Given the description of an element on the screen output the (x, y) to click on. 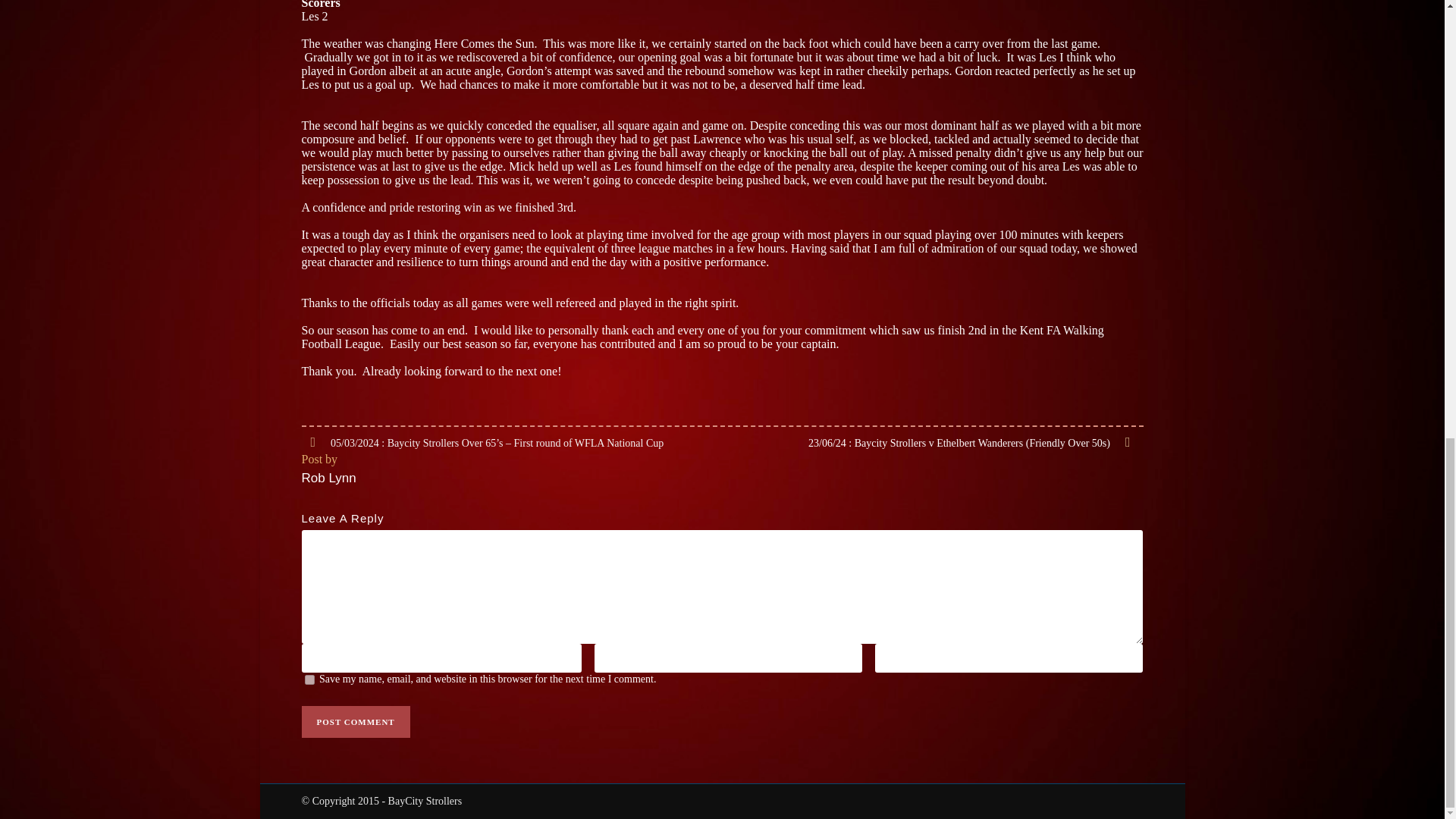
Posts by Rob Lynn (328, 477)
Post Comment (355, 721)
yes (309, 679)
